Given the description of an element on the screen output the (x, y) to click on. 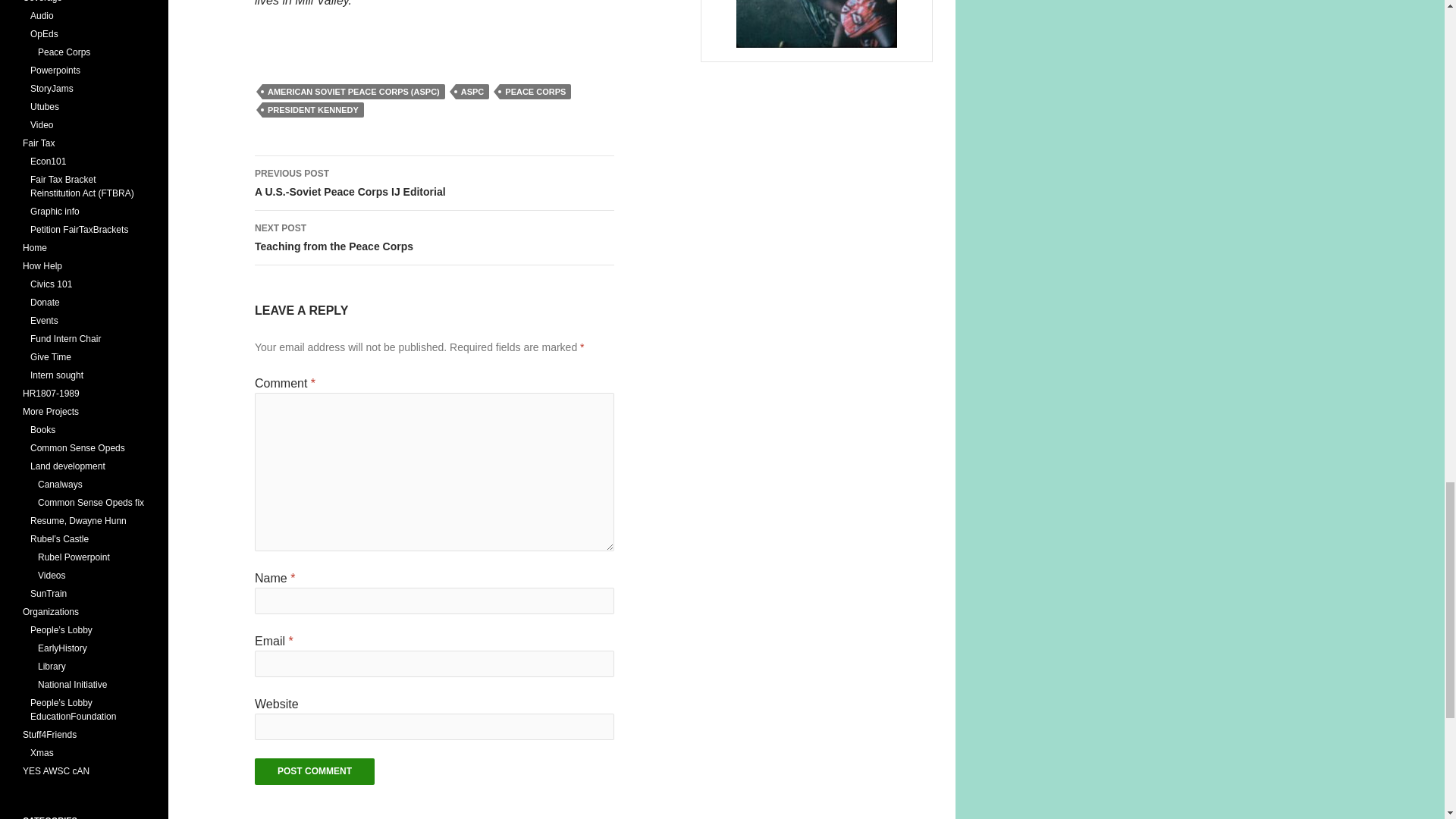
Post Comment (314, 771)
